Given the description of an element on the screen output the (x, y) to click on. 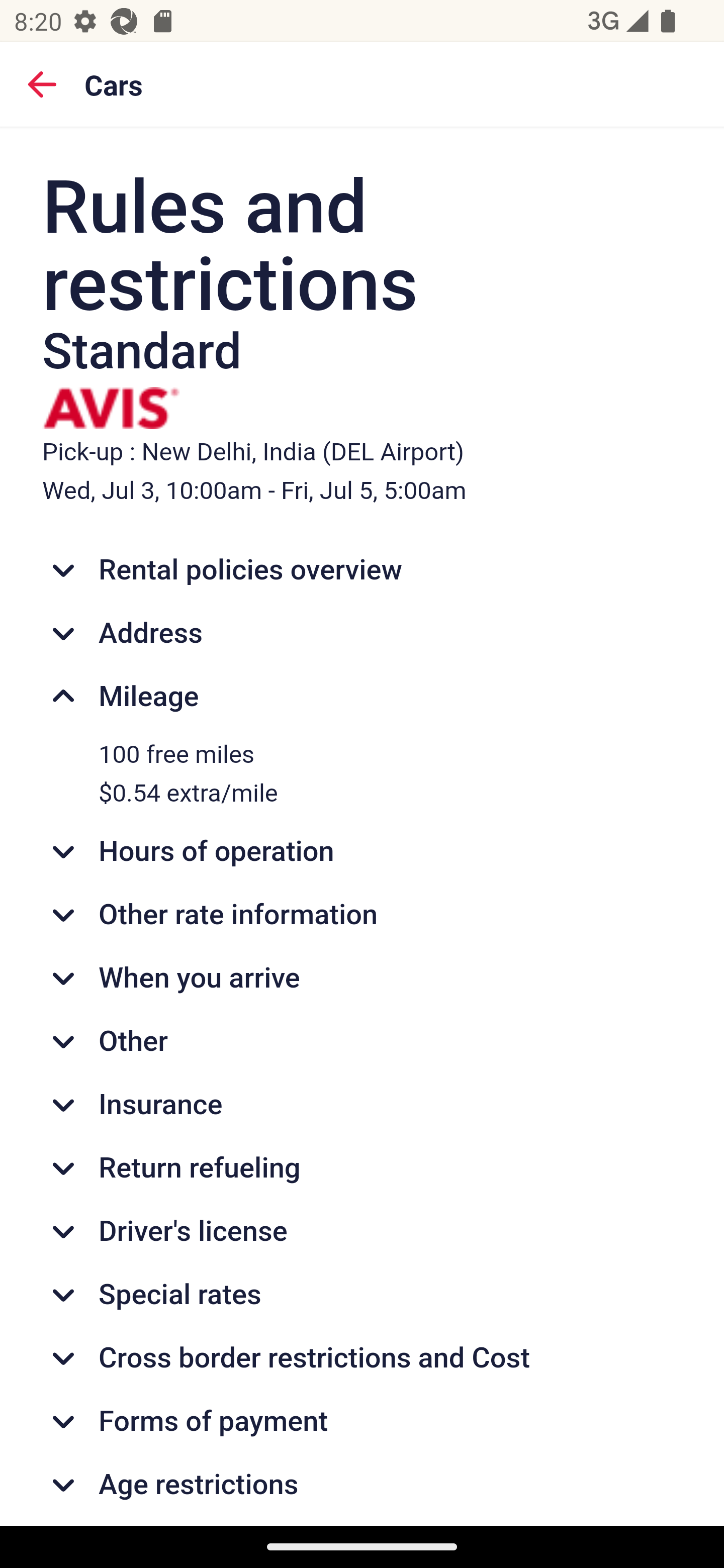
Back (41, 83)
Rental policies overview (362, 569)
Address (362, 632)
Mileage (362, 696)
Hours of operation (362, 851)
Other rate information (362, 915)
When you arrive (362, 978)
Other (362, 1041)
Insurance (362, 1104)
Return refueling (362, 1167)
Driver's license (362, 1231)
Special rates (362, 1294)
Cross border restrictions and Cost (362, 1358)
Forms of payment (362, 1422)
Age restrictions (362, 1484)
